Given the description of an element on the screen output the (x, y) to click on. 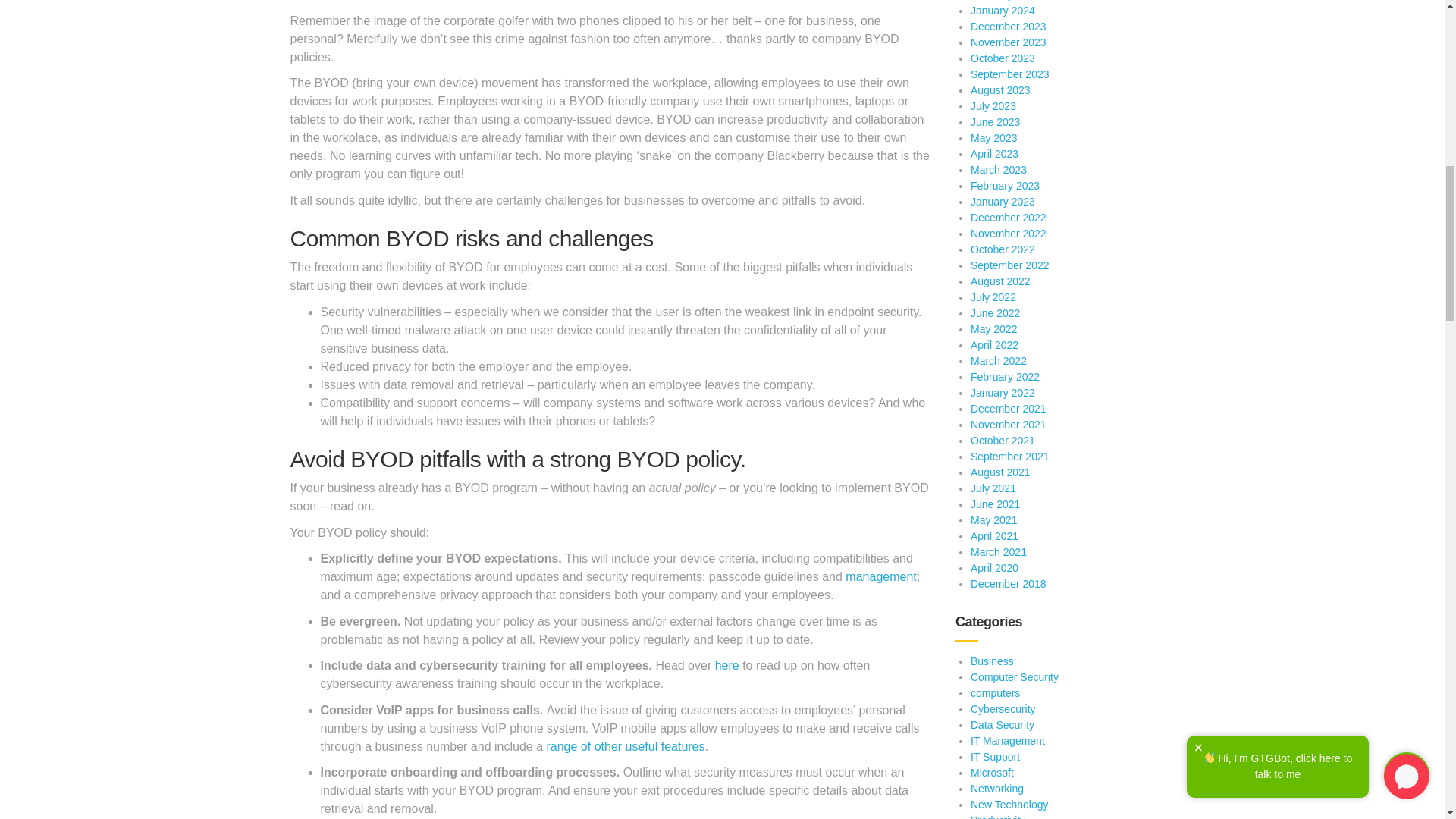
here (726, 665)
range of other useful features (625, 746)
management (880, 576)
